Given the description of an element on the screen output the (x, y) to click on. 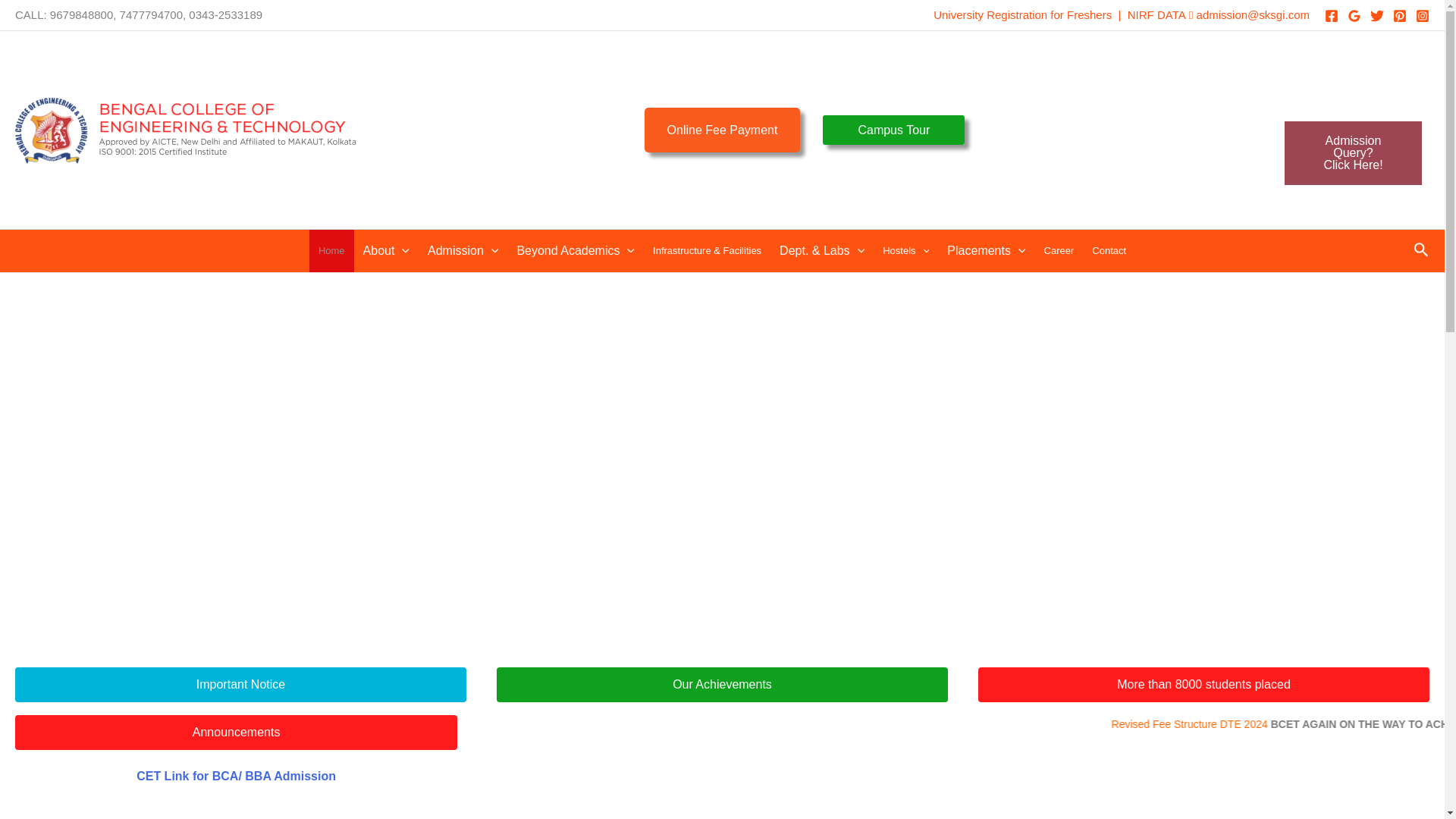
University Registration for Freshers (1022, 14)
Home (330, 250)
NIRF DATA (1353, 153)
About (1156, 14)
Admission (386, 250)
Campus Tour (462, 250)
Online Fee Payment (892, 129)
